Given the description of an element on the screen output the (x, y) to click on. 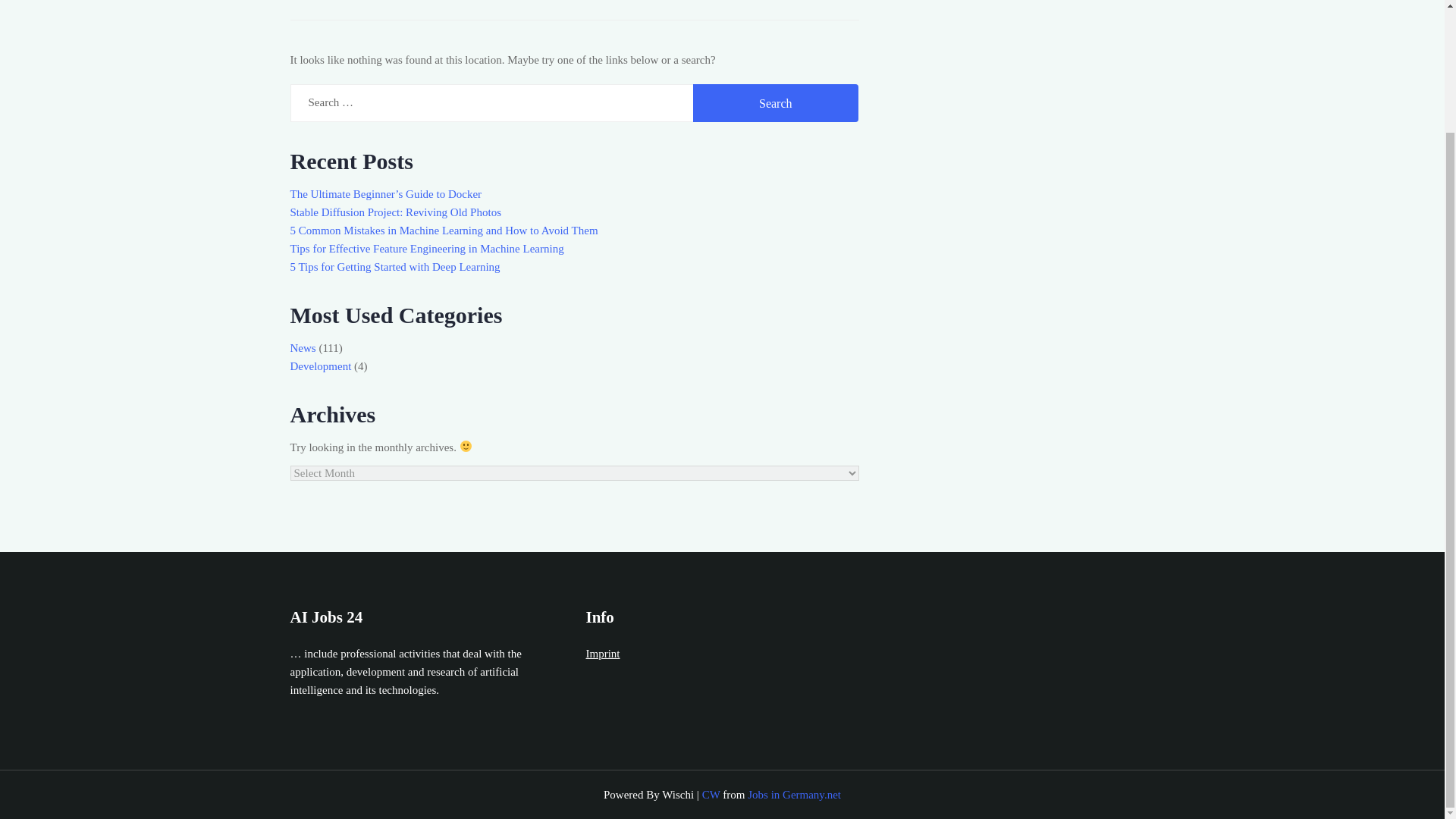
Imprint (602, 653)
Tips for Effective Feature Engineering in Machine Learning (426, 248)
Stable Diffusion Project: Reviving Old Photos (394, 212)
Development (319, 366)
Search (776, 103)
News (302, 347)
CW (710, 794)
5 Tips for Getting Started with Deep Learning (394, 266)
Search (776, 103)
Search (776, 103)
Jobs in Germany.net (794, 794)
5 Common Mistakes in Machine Learning and How to Avoid Them (442, 230)
